Given the description of an element on the screen output the (x, y) to click on. 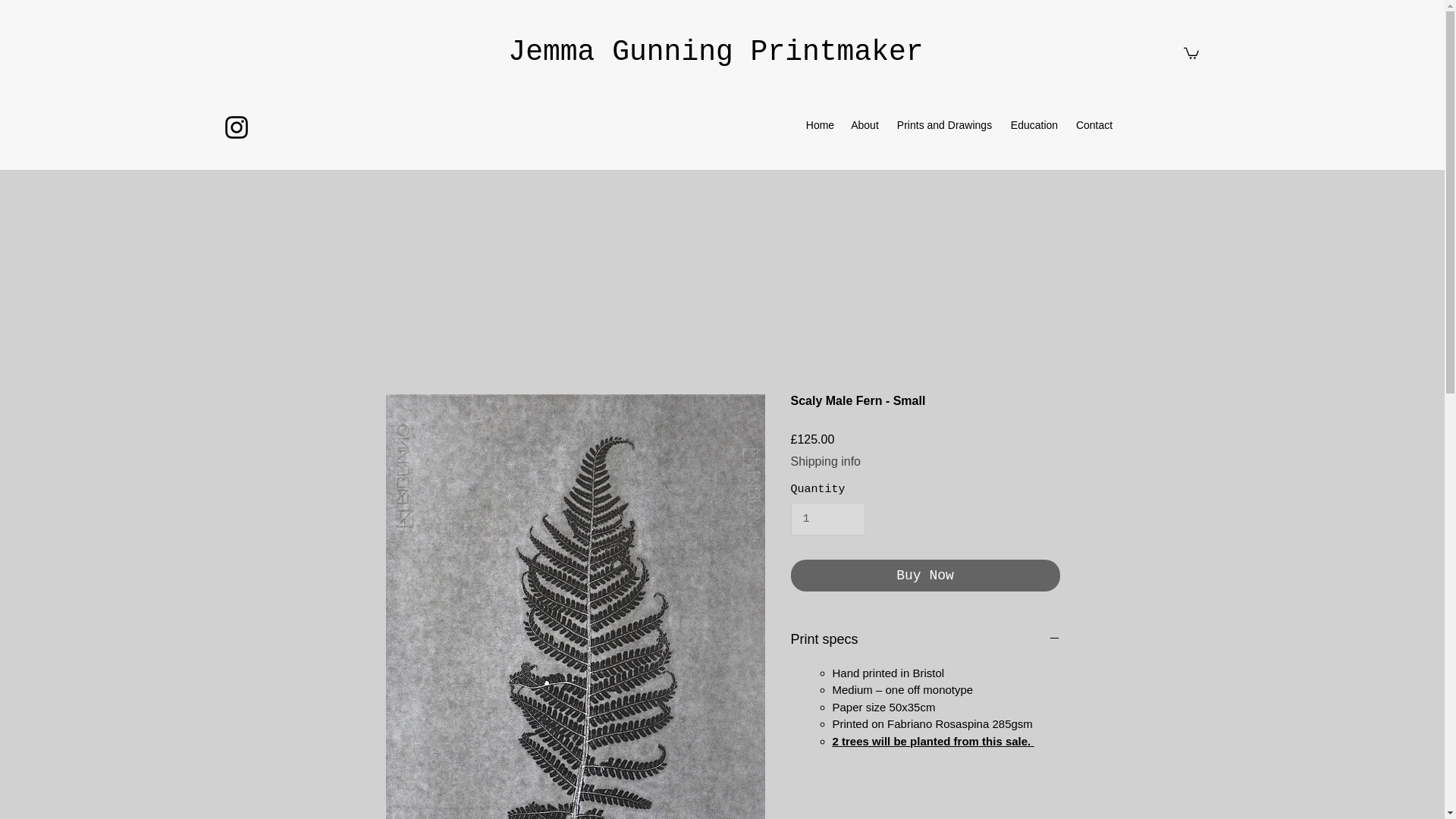
Contact (1094, 124)
Print specs (924, 639)
Home (820, 124)
Prints and Drawings (943, 124)
trees will be planted from this sale.  (937, 740)
Jemma Gunning Printmaker (715, 51)
1 (827, 519)
Education (1034, 124)
Shipping info (825, 461)
About (864, 124)
Buy Now (924, 575)
